Given the description of an element on the screen output the (x, y) to click on. 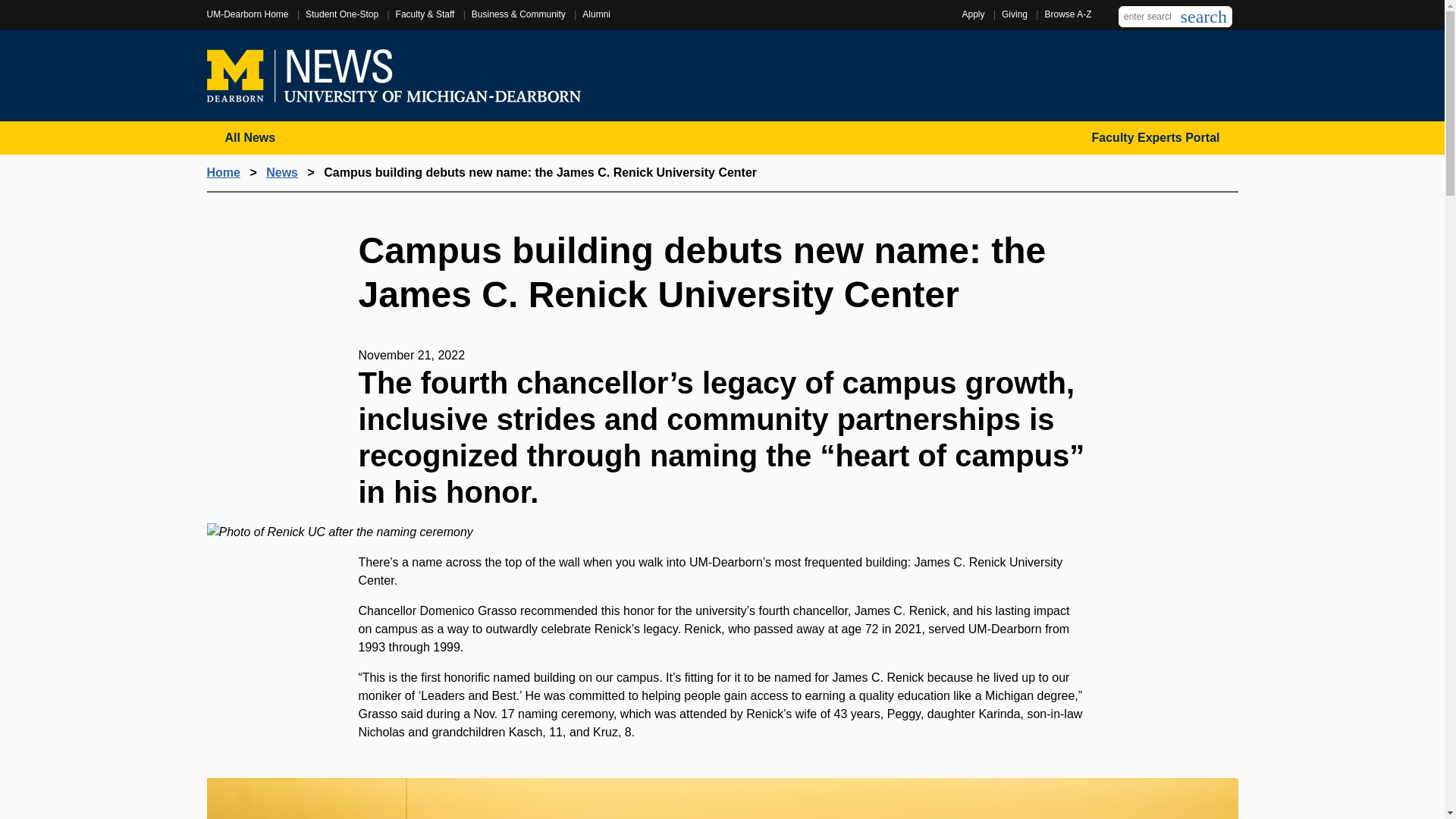
News (282, 172)
Giving (1014, 14)
Faculty Experts Portal (1156, 137)
Apply (972, 14)
Skip to main content (721, 6)
Alumni (596, 14)
UM-Dearborn Home (247, 14)
Browse A-Z (1066, 14)
All News (250, 137)
Searchsearch (1203, 16)
